Given the description of an element on the screen output the (x, y) to click on. 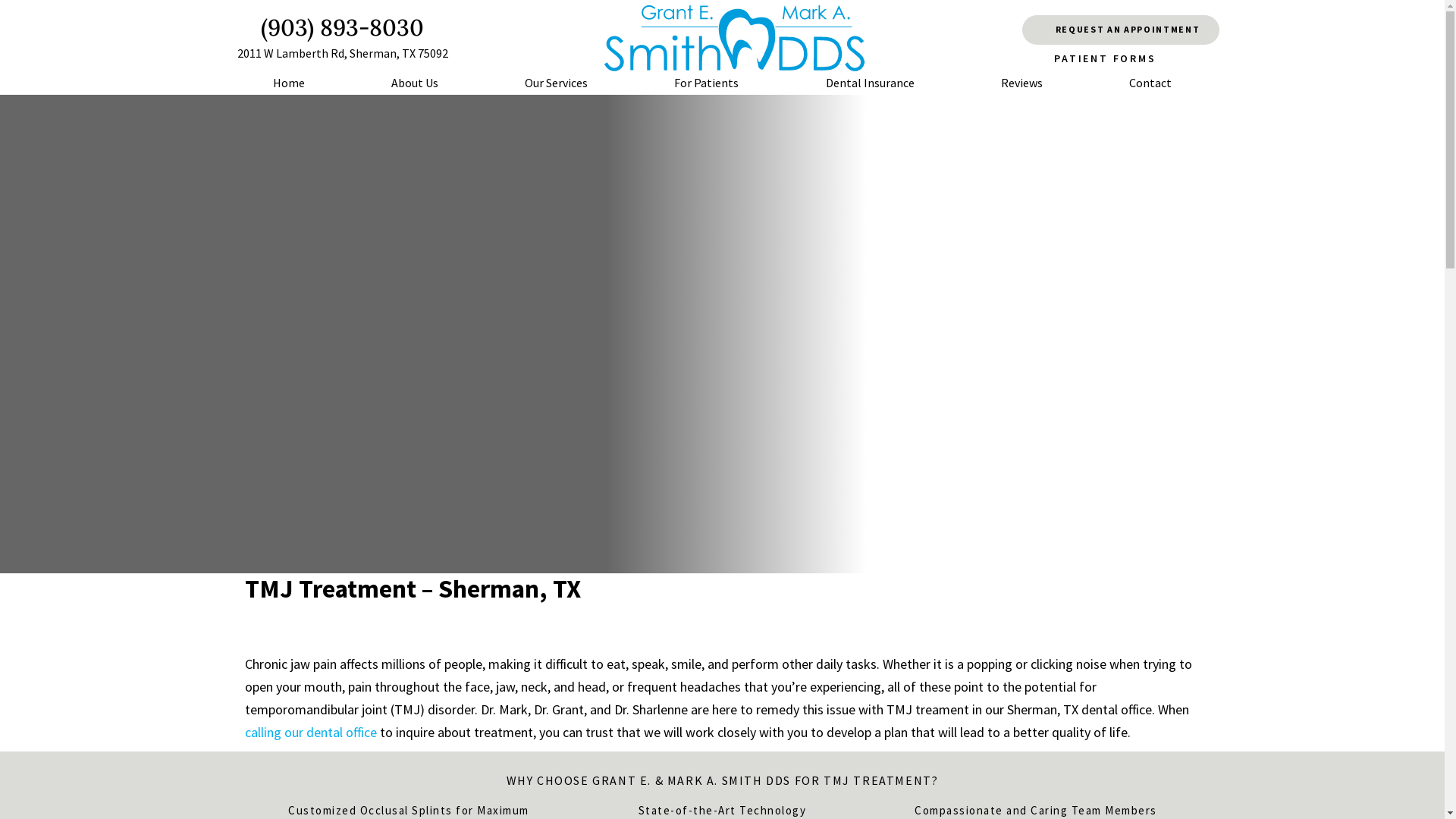
PATIENT FORMS Element type: text (1120, 58)
Our Services Element type: text (555, 82)
calling our dental office Element type: text (310, 731)
Contact Element type: text (1149, 82)
About Us Element type: text (414, 82)
(903) 893-8030 Element type: text (332, 26)
For Patients Element type: text (705, 82)
REQUEST AN APPOINTMENT Element type: text (1120, 29)
Dental Insurance Element type: text (869, 82)
Reviews Element type: text (1021, 82)
Home Element type: text (288, 82)
2011 W Lamberth Rd, Sherman, TX 75092 Element type: text (333, 53)
